Given the description of an element on the screen output the (x, y) to click on. 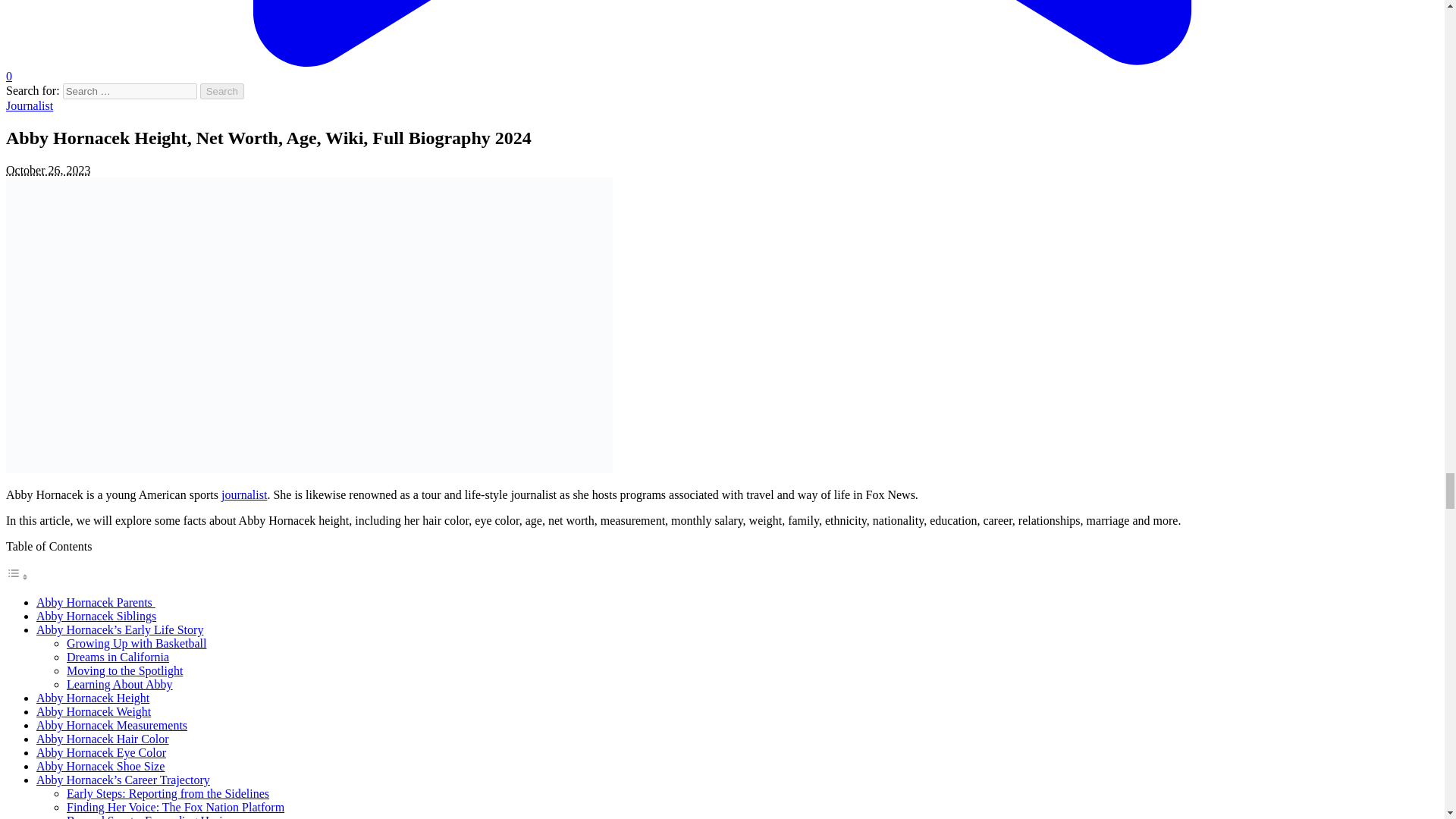
Search (222, 91)
Search (222, 91)
